Given the description of an element on the screen output the (x, y) to click on. 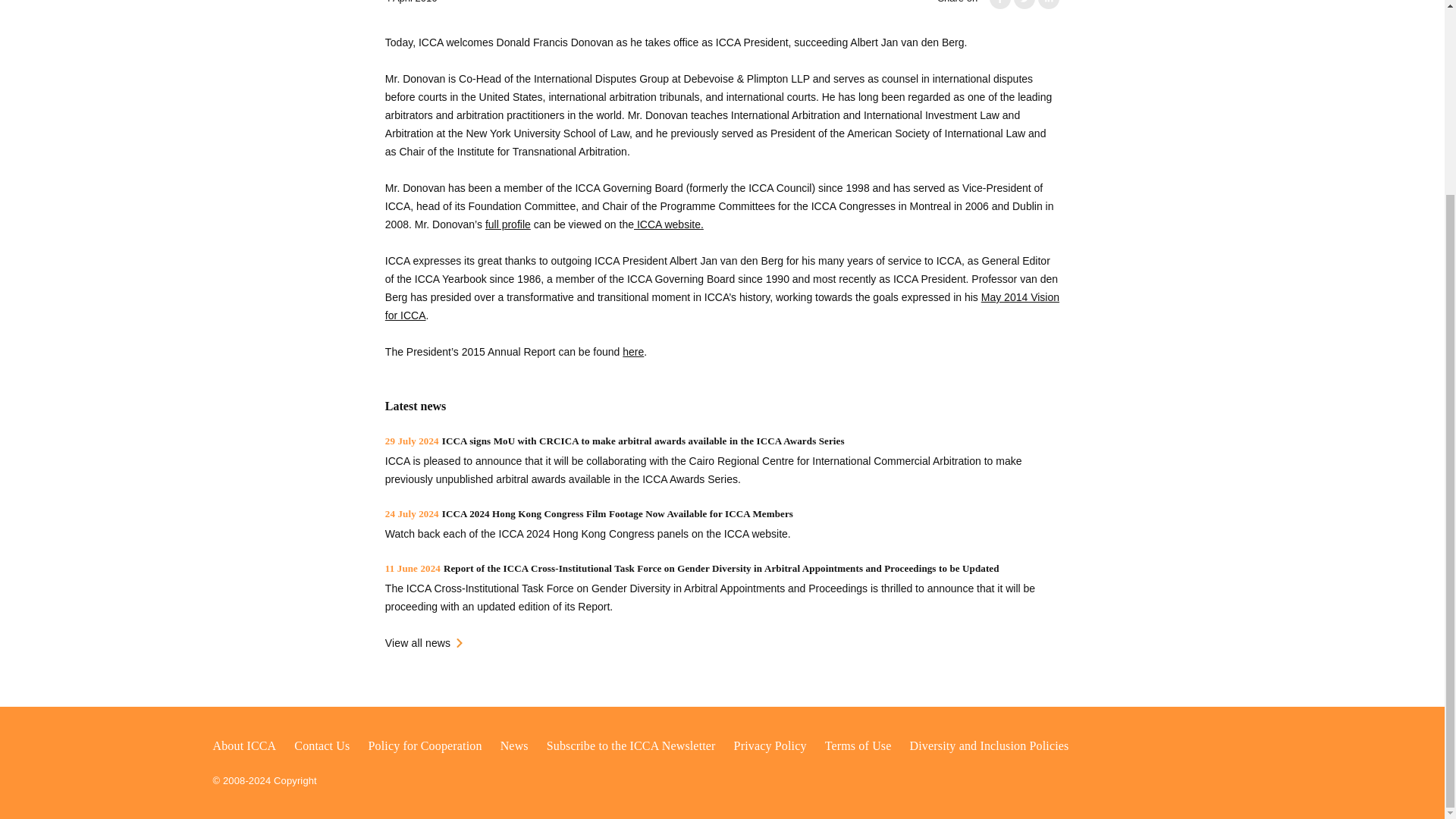
Twitter (1024, 4)
here (633, 351)
View all news (424, 642)
May 2014 Vision for ICCA (722, 306)
Linkedin (1048, 4)
Facebook (1000, 4)
full profile (507, 224)
ICCA website (666, 224)
